Given the description of an element on the screen output the (x, y) to click on. 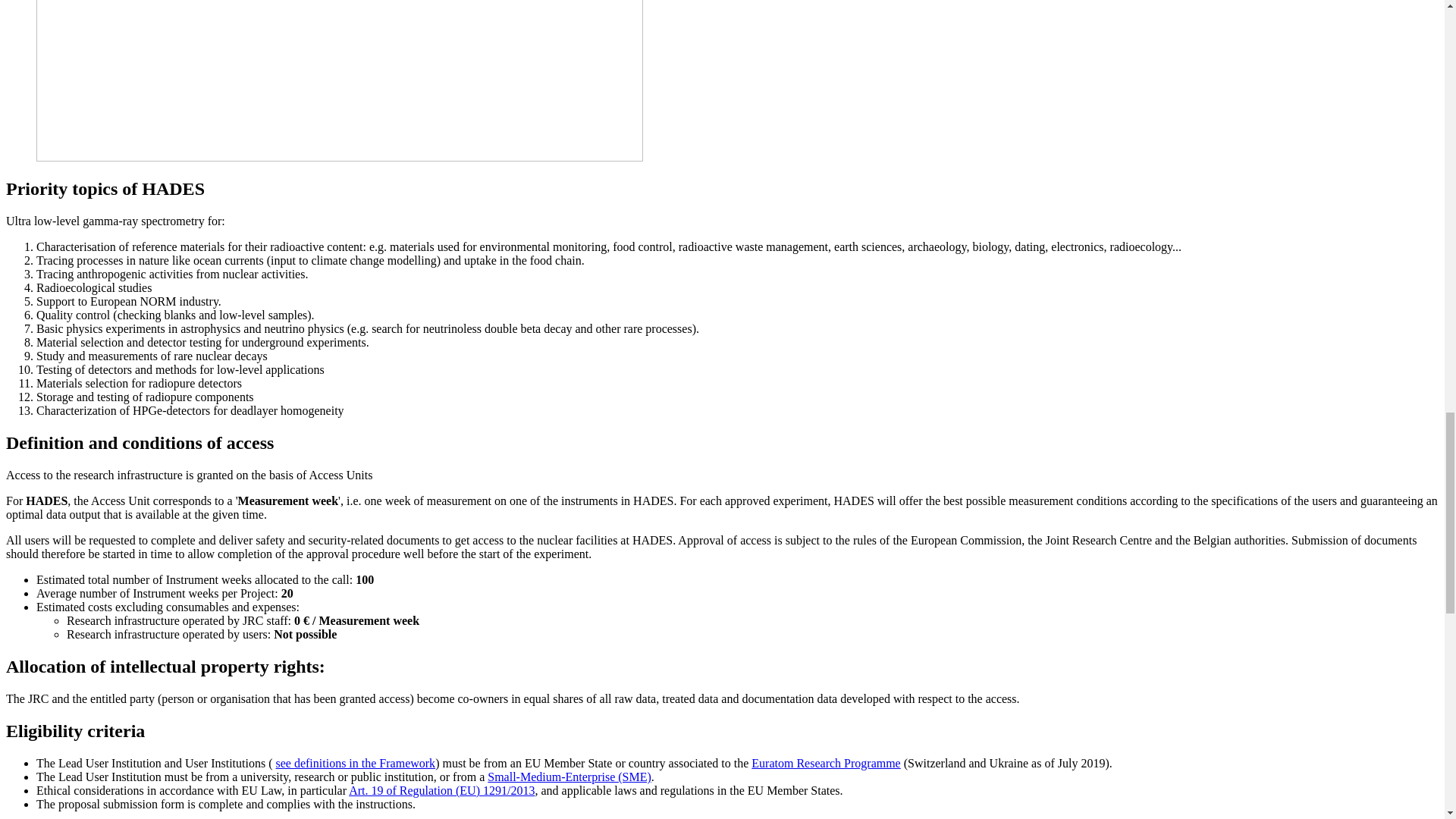
see definitions in the Framework (355, 762)
Euratom Research Programme (825, 762)
